Given the description of an element on the screen output the (x, y) to click on. 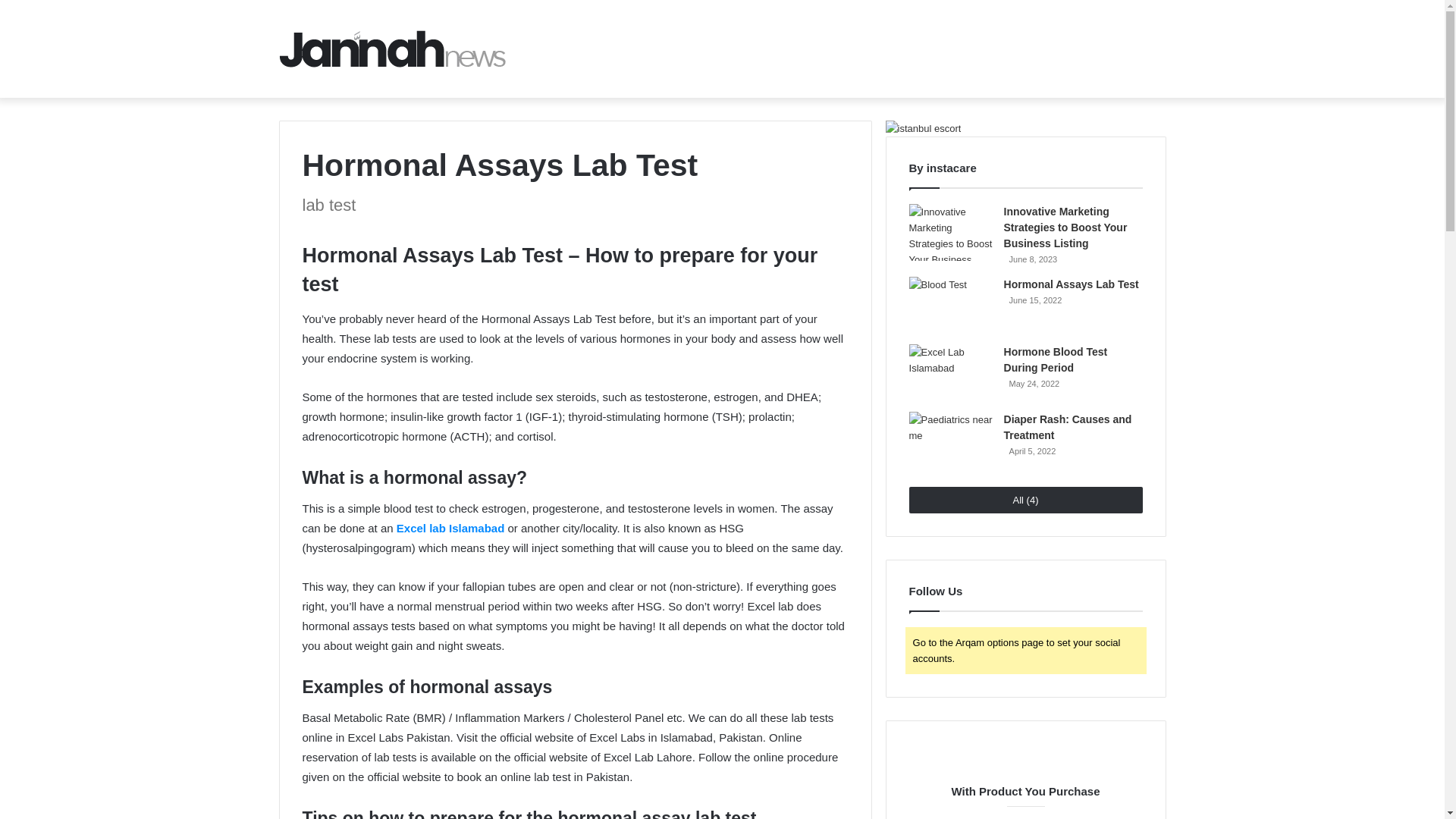
Hormonal Assays Lab Test (1071, 284)
Articles Spin (392, 48)
Hormone Blood Test During Period (1056, 359)
Diaper Rash: Causes and Treatment (1068, 427)
Excel lab Islamabad (450, 527)
